Given the description of an element on the screen output the (x, y) to click on. 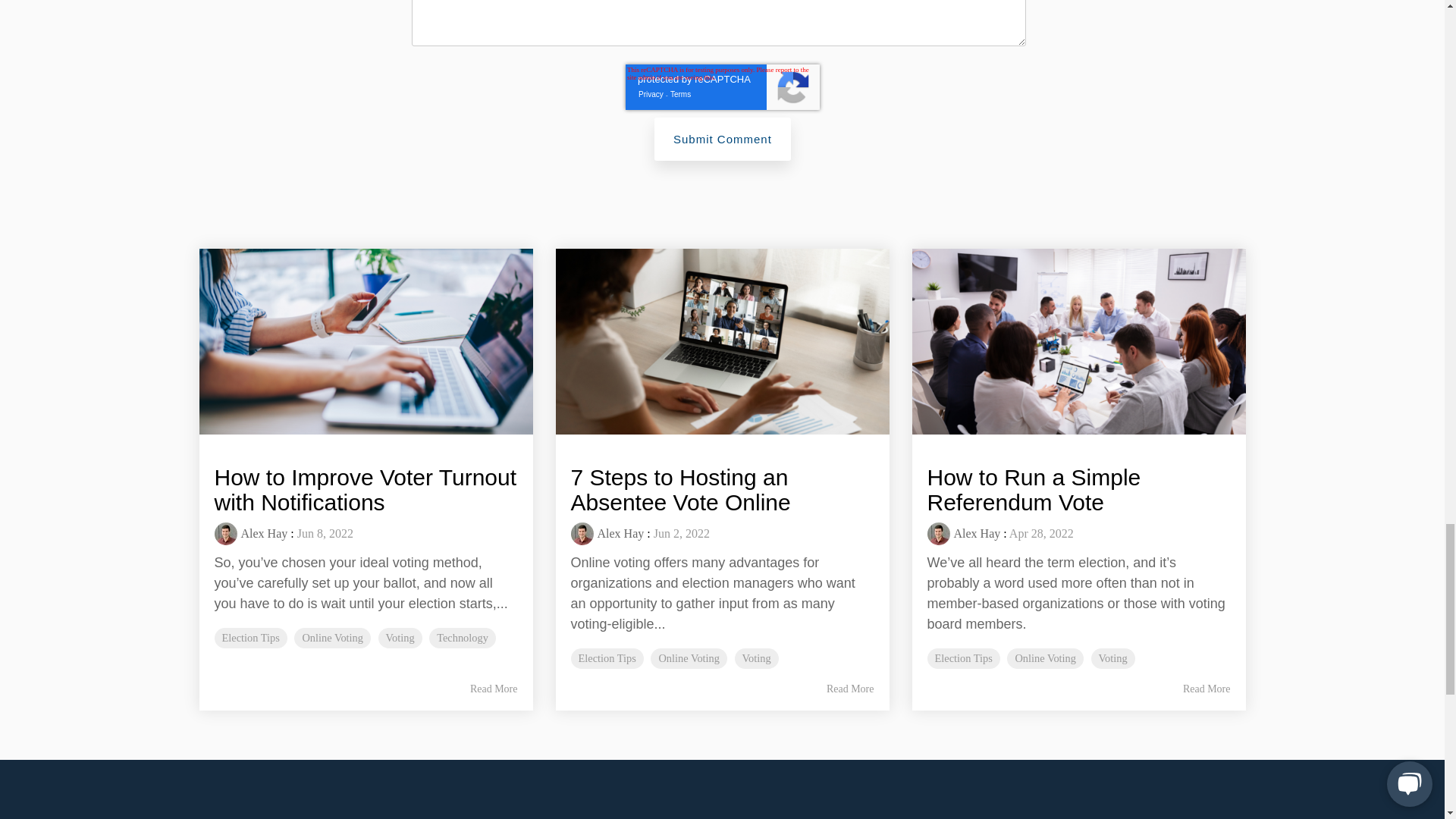
reCAPTCHA (721, 86)
Submit Comment (721, 138)
